Given the description of an element on the screen output the (x, y) to click on. 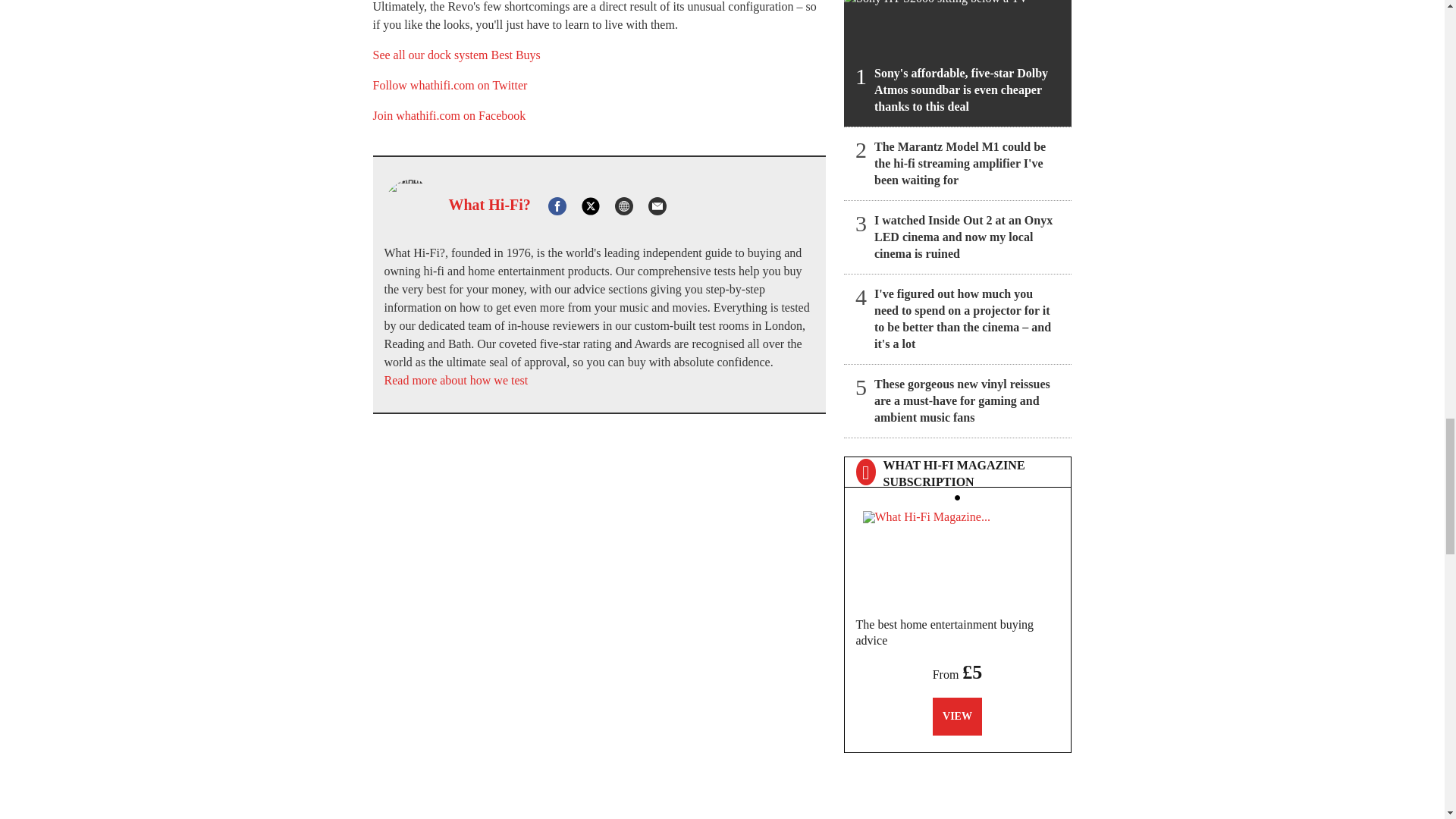
What Hi-Fi Magazine... (957, 554)
